Given the description of an element on the screen output the (x, y) to click on. 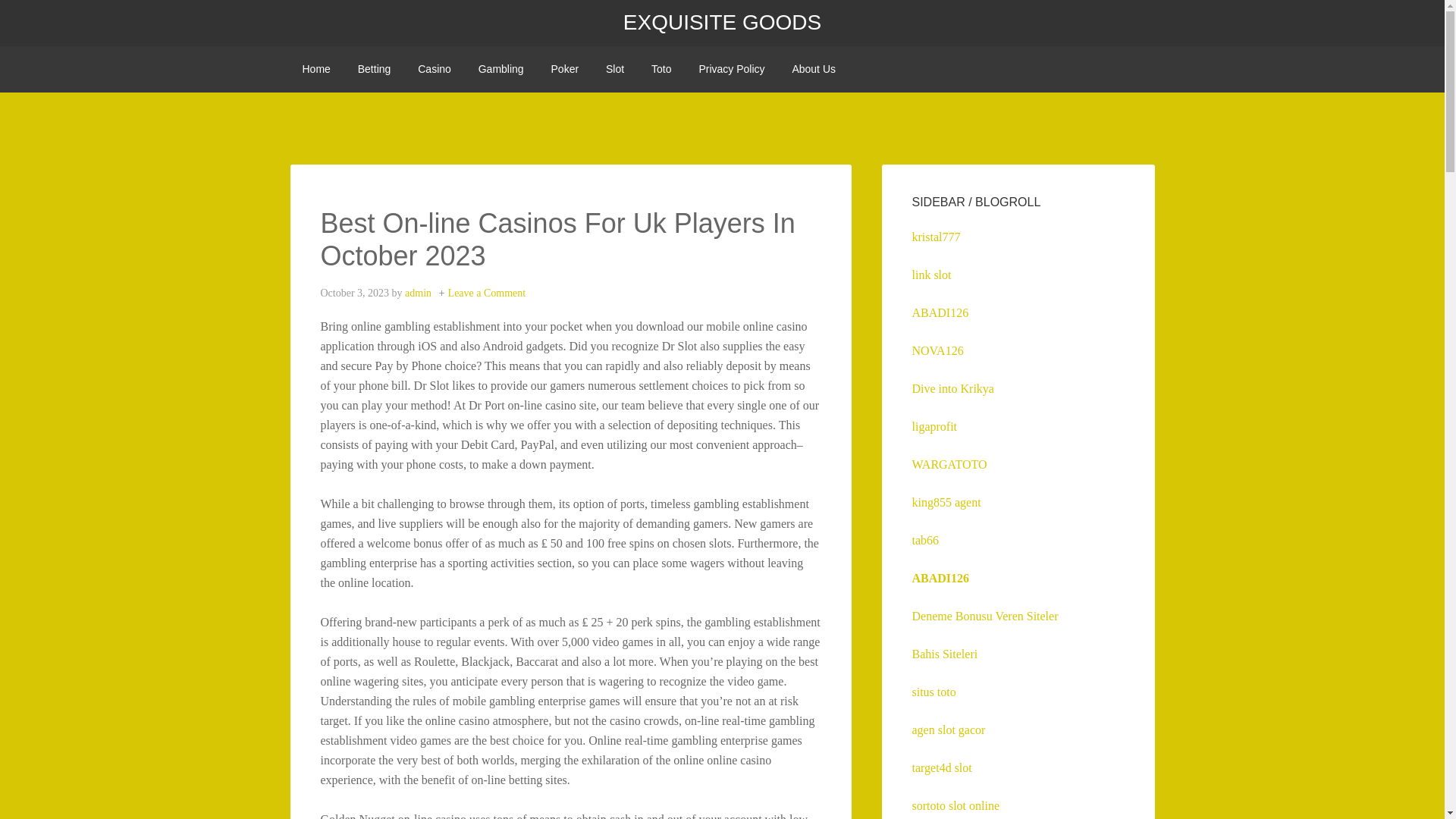
sortoto slot online (954, 805)
ABADI126 (939, 312)
Casino (434, 68)
link slot (930, 274)
admin (417, 292)
Dive into Krikya (951, 388)
Home (315, 68)
target4d slot (941, 767)
Bahis Siteleri (943, 653)
Slot (615, 68)
